Given the description of an element on the screen output the (x, y) to click on. 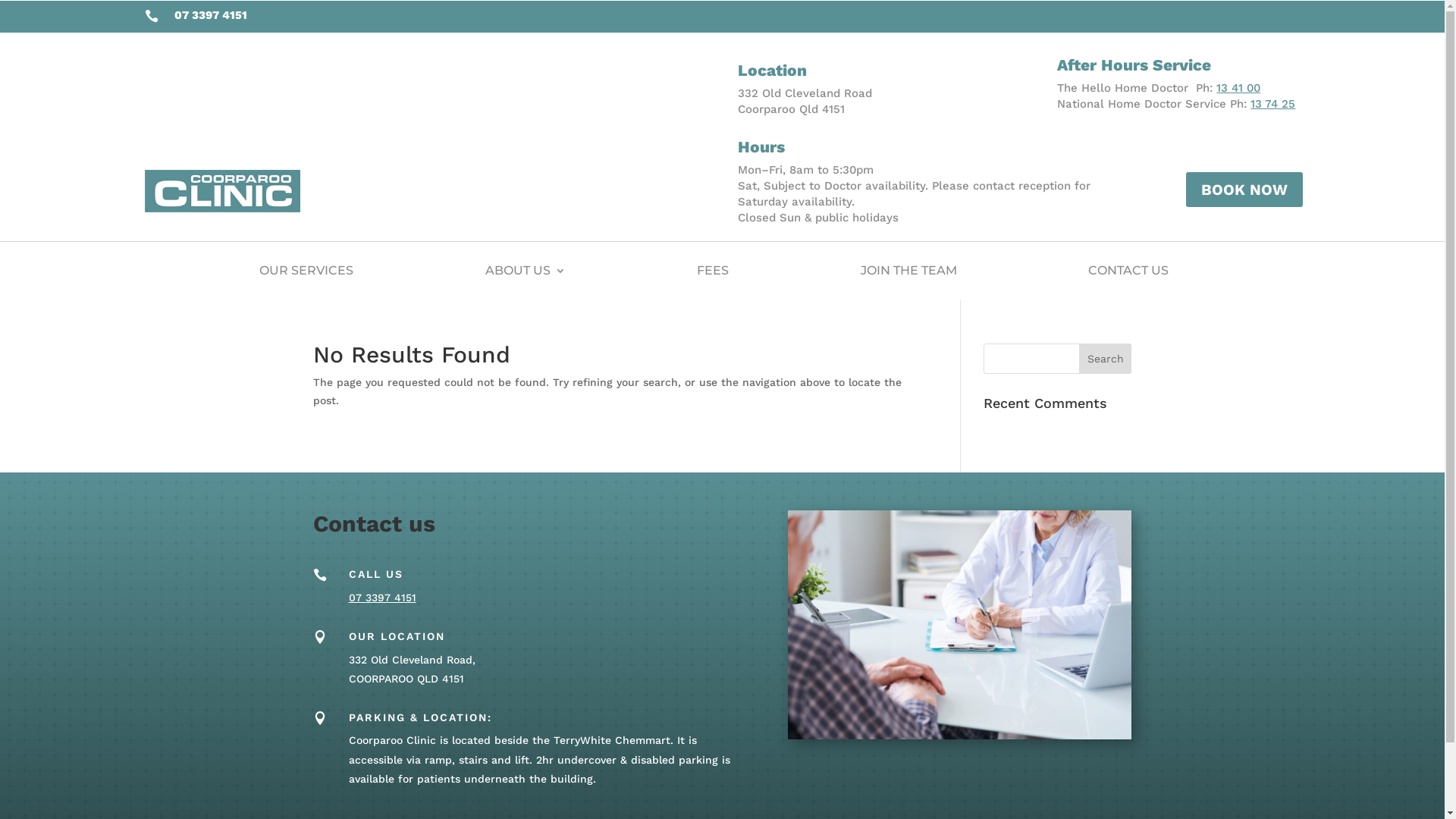
FEES Element type: text (712, 270)
OUR SERVICES Element type: text (306, 270)
Search Element type: text (1105, 358)
JOIN THE TEAM Element type: text (907, 270)
BOOK NOW Element type: text (1244, 189)
13 41 00 Element type: text (1238, 87)
Medical prescriptions Element type: hover (959, 624)
ABOUT US Element type: text (525, 270)
CONTACT US Element type: text (1128, 270)
13 74 25 Element type: text (1272, 103)
07 3397 4151 Element type: text (382, 597)
